Given the description of an element on the screen output the (x, y) to click on. 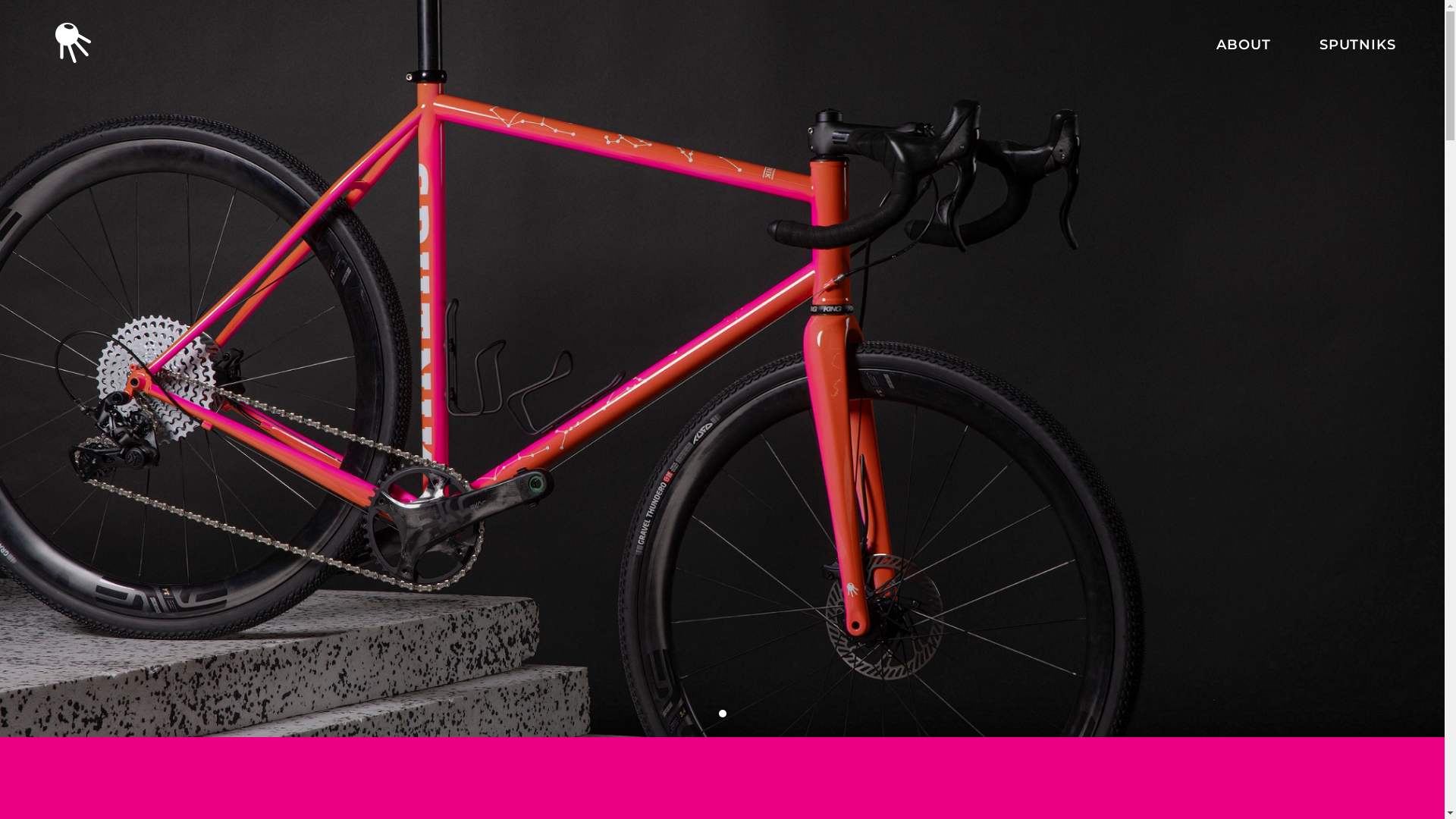
About Element type: text (742, 600)
hello@wearesputnik.cc Element type: text (533, 631)
Sputniks Element type: text (751, 625)
SPUTNIKS Element type: text (1357, 44)
ABOUT Element type: text (1243, 44)
